Given the description of an element on the screen output the (x, y) to click on. 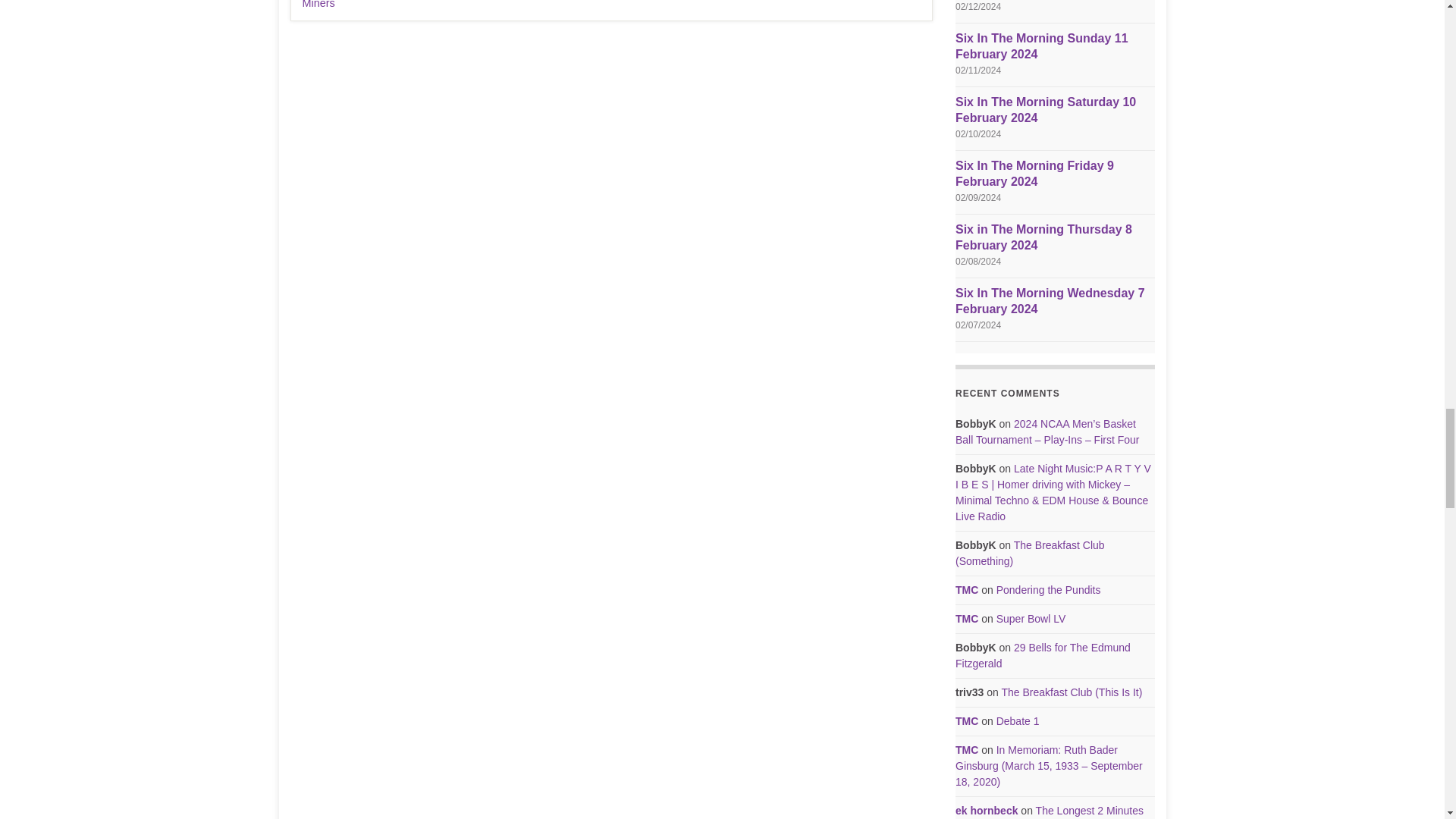
Western Federation of Miners (502, 4)
